Given the description of an element on the screen output the (x, y) to click on. 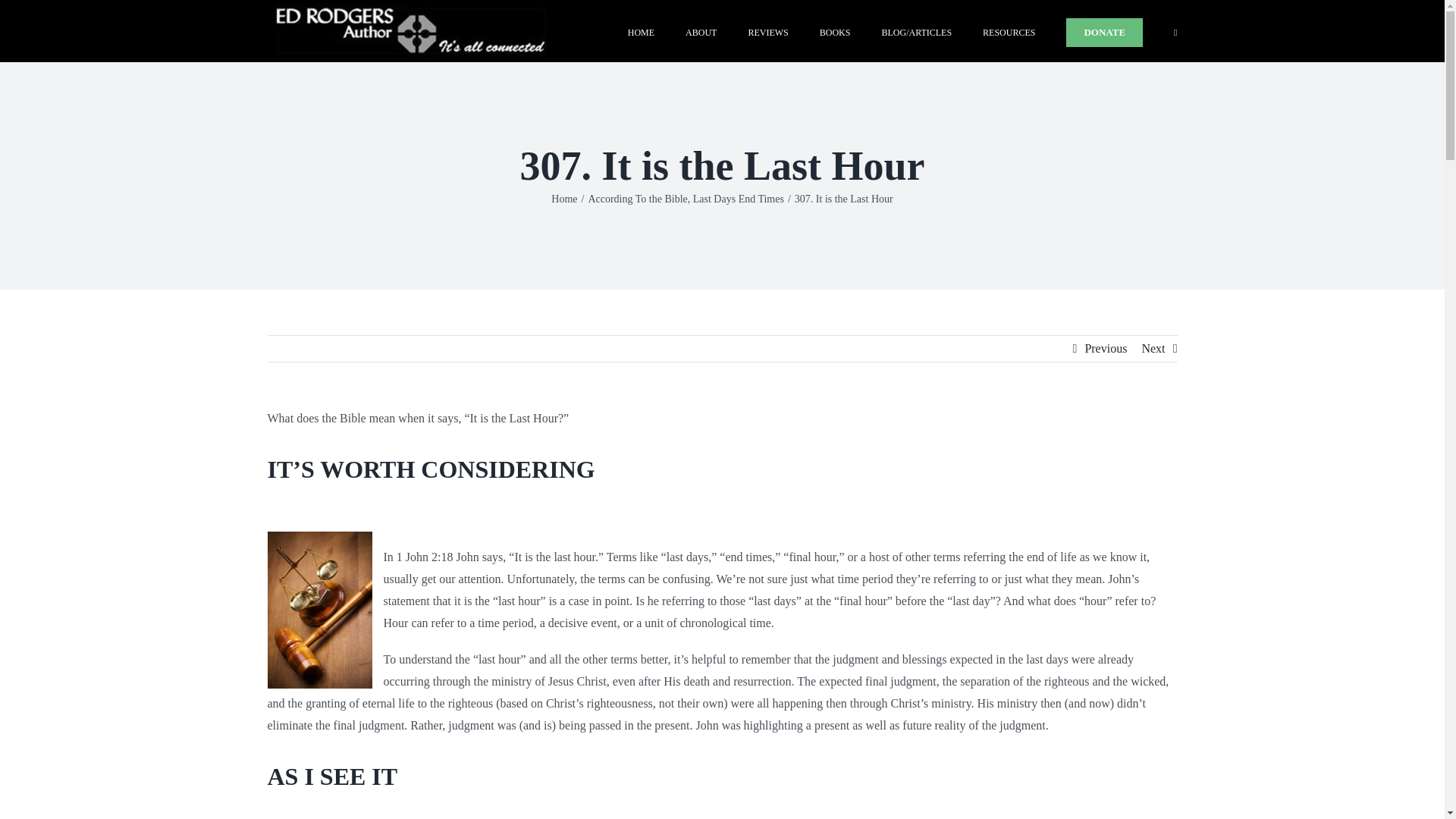
DONATE (1103, 31)
